Given the description of an element on the screen output the (x, y) to click on. 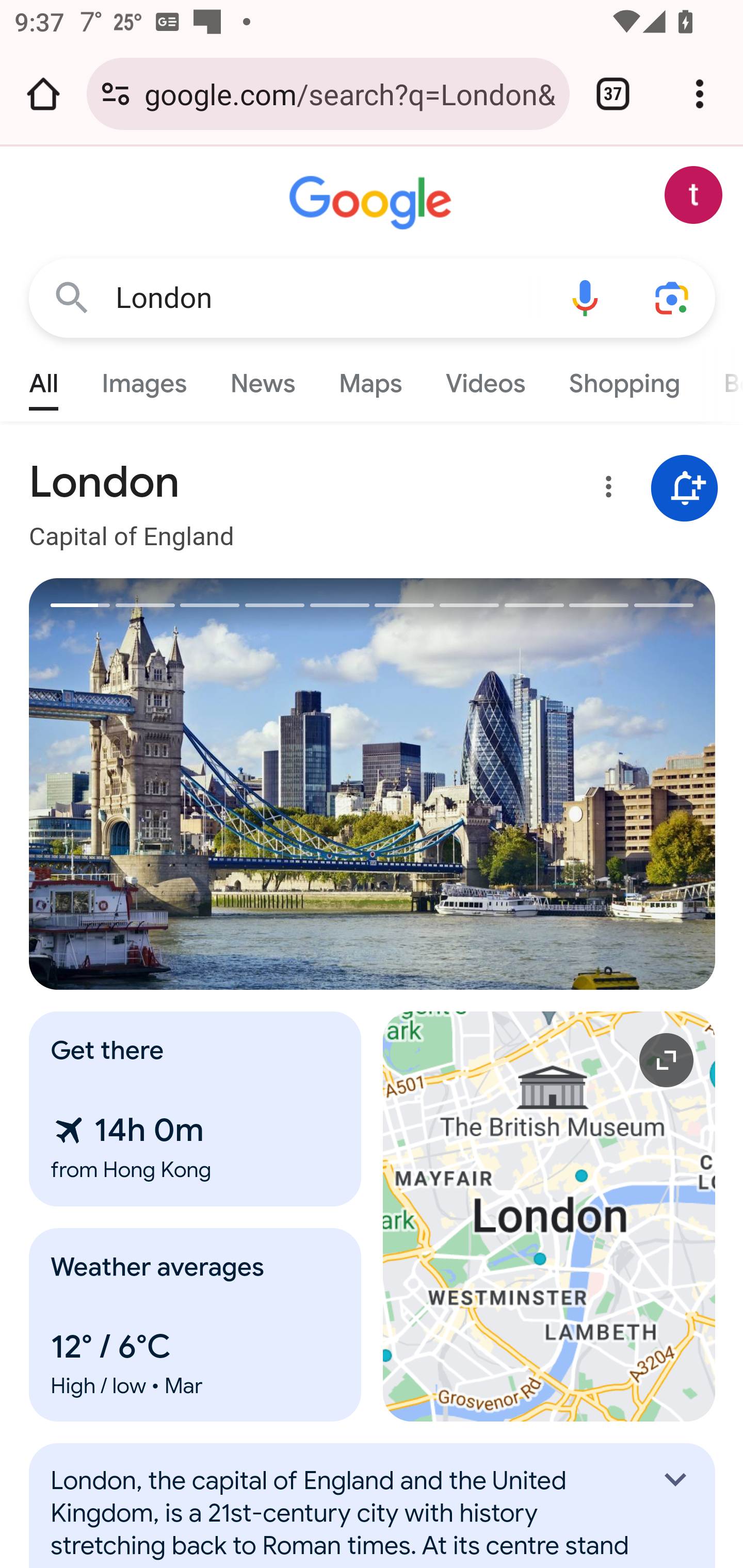
Open the home page (43, 93)
Connection is secure (115, 93)
Switch or close tabs (612, 93)
Customize and control Google Chrome (699, 93)
Google (372, 203)
Google Search (71, 296)
Search using your camera or photos (672, 296)
London (328, 297)
Images (144, 378)
News (262, 378)
Maps (369, 378)
Videos (485, 378)
Shopping (623, 378)
Get notifications about London (684, 489)
More options (605, 489)
Previous image (200, 783)
Next image (544, 783)
Get there 14 hours by airplane from Hong Kong (195, 1109)
Expand map (549, 1216)
Weather averages 12° / 6°C High / low • Mar (195, 1324)
